Given the description of an element on the screen output the (x, y) to click on. 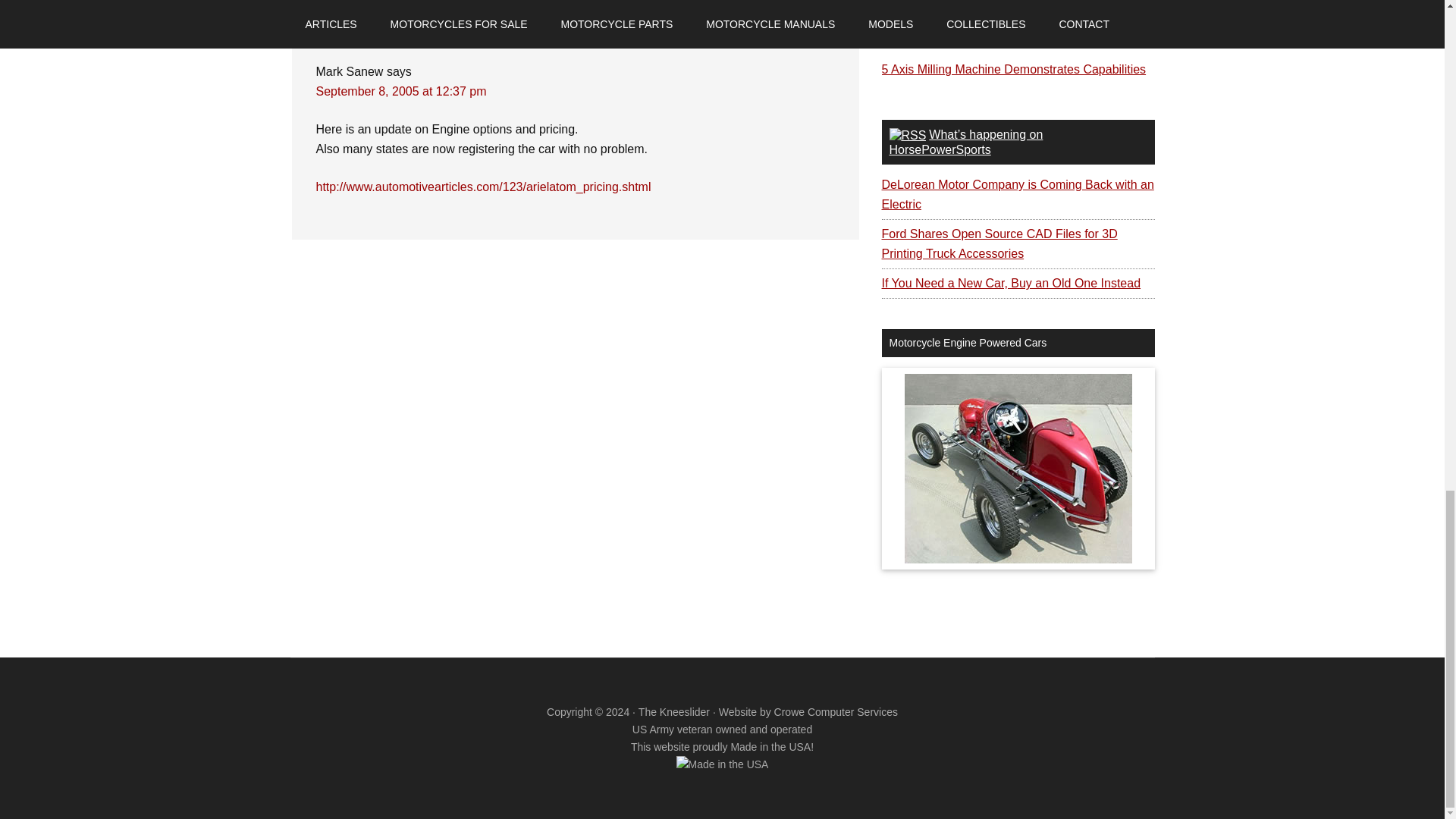
5 Axis Milling Machine Demonstrates Capabilities (1012, 69)
If You Need a New Car, Buy an Old One Instead (1010, 282)
Bill Vukovitch Drake Harley Davidson powered midget racer (1017, 468)
Made in the USA (722, 764)
September 8, 2005 at 12:37 pm (400, 91)
Crowe Computer Services (836, 711)
DeLorean Motor Company is Coming Back with an Electric (1016, 194)
The Kneeslider (674, 711)
